Given the description of an element on the screen output the (x, y) to click on. 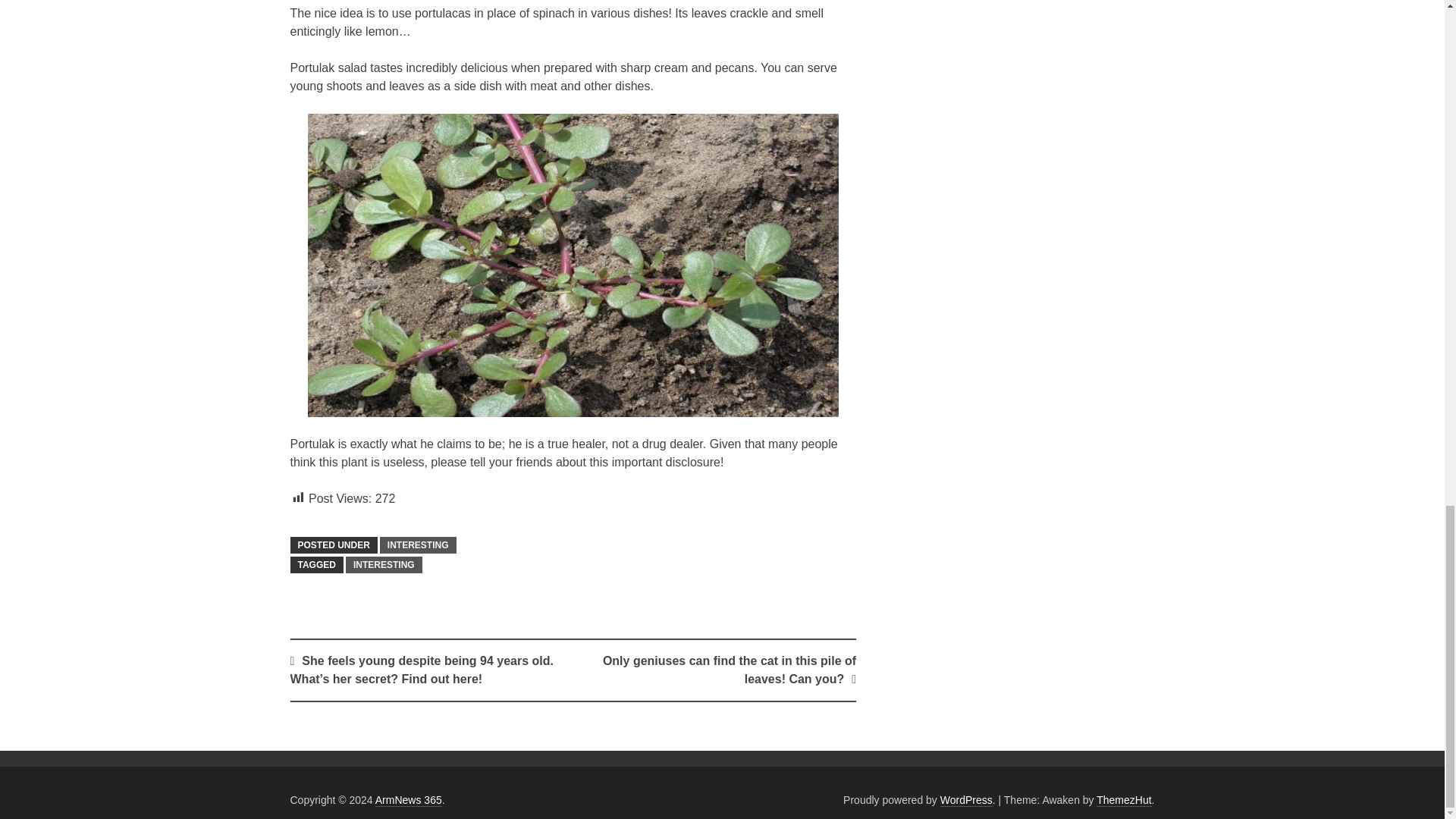
INTERESTING (384, 564)
WordPress (966, 799)
INTERESTING (418, 545)
ArmNews 365 (408, 799)
ThemezHut (1123, 799)
ArmNews 365 (408, 799)
WordPress (966, 799)
